Given the description of an element on the screen output the (x, y) to click on. 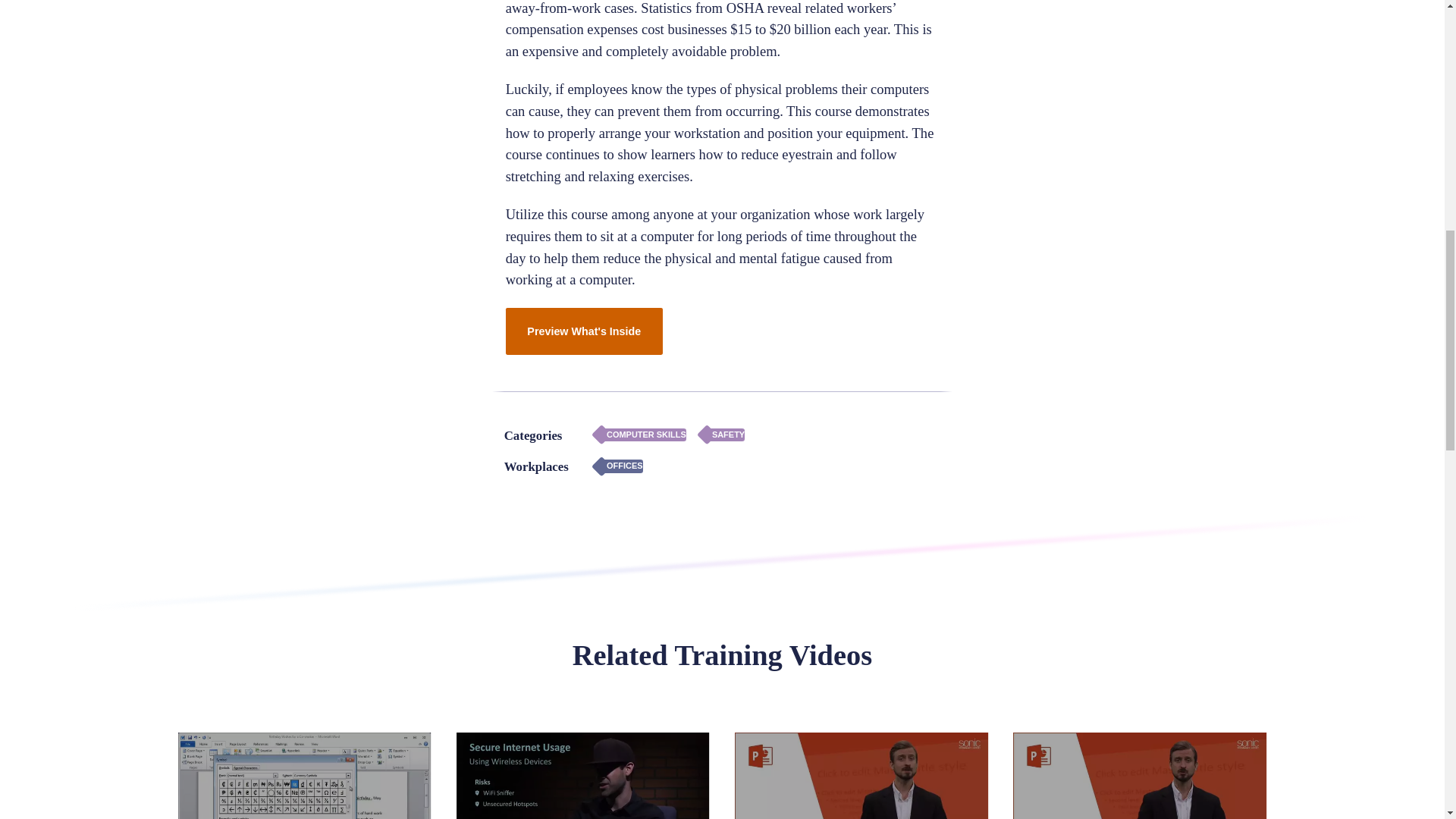
COMPUTER SKILLS (639, 435)
Preview What's Inside (583, 330)
OFFICES (618, 466)
SAFETY (721, 435)
